Given the description of an element on the screen output the (x, y) to click on. 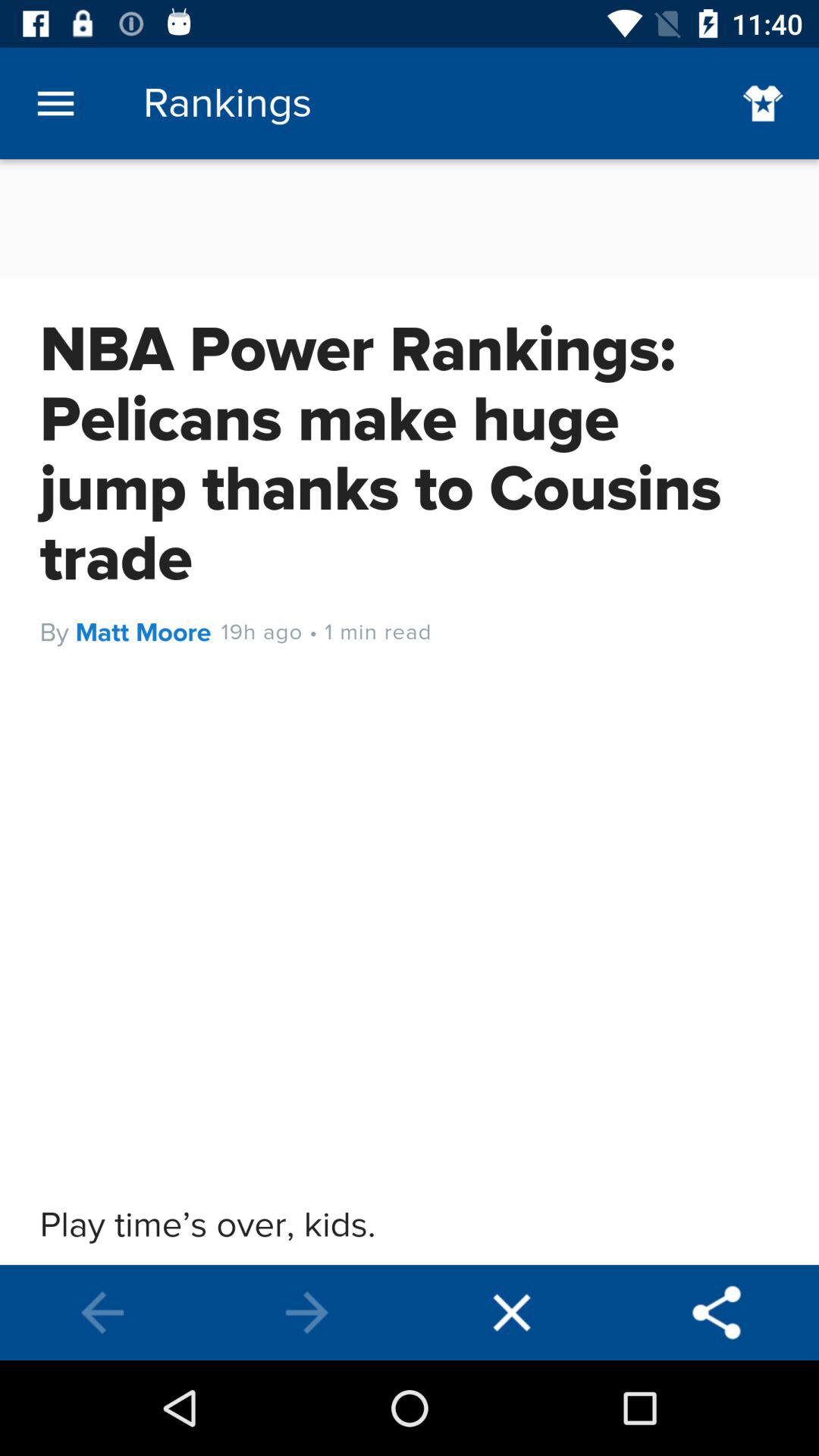
rankings page (409, 711)
